Given the description of an element on the screen output the (x, y) to click on. 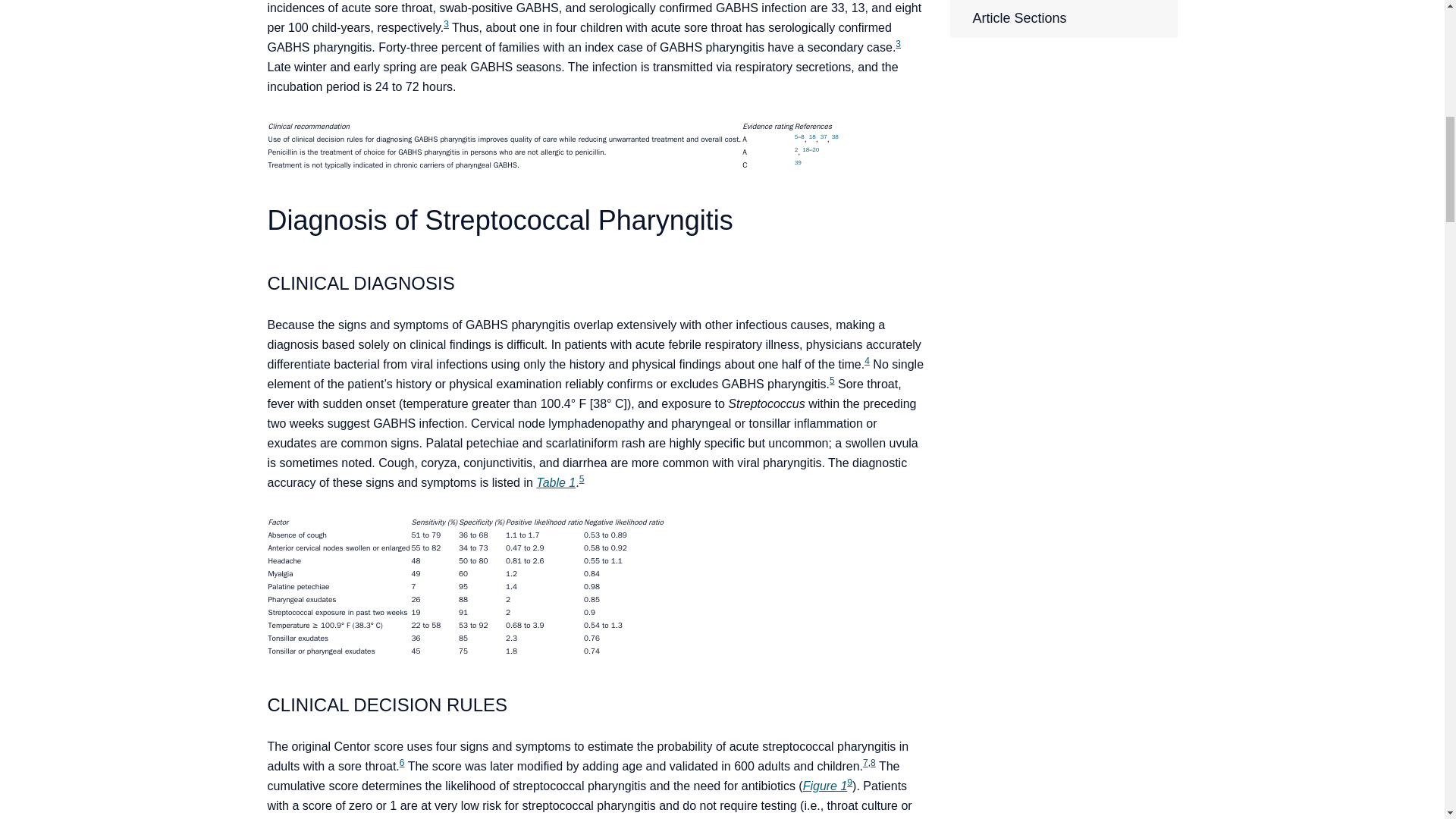
Figure 1 (825, 785)
39 (798, 162)
18 (805, 149)
37 (824, 136)
18 (812, 136)
20 (815, 149)
38 (834, 136)
Table 1 (555, 481)
